Given the description of an element on the screen output the (x, y) to click on. 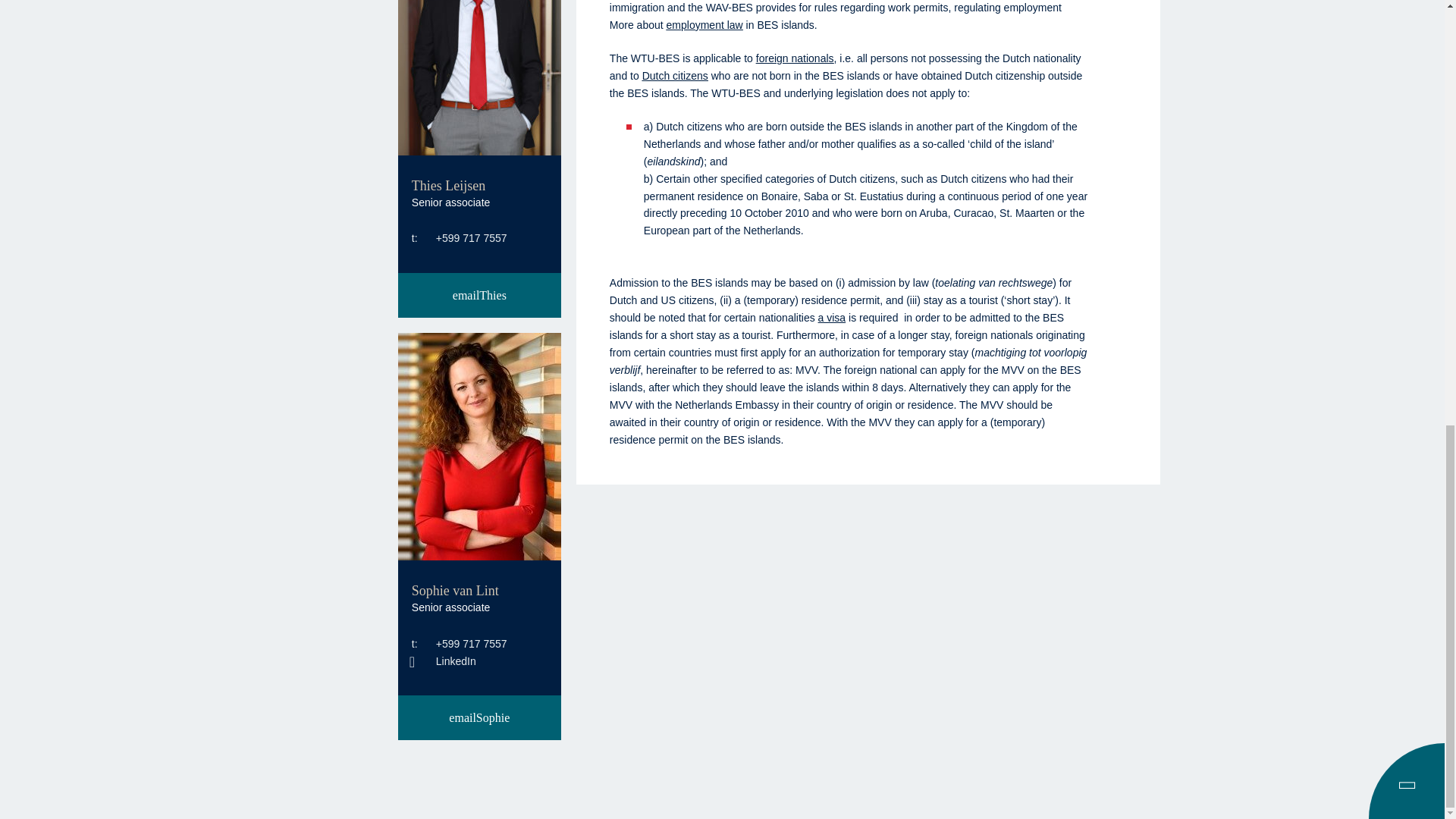
Toggle footer (1409, 785)
LinkedIn (444, 661)
emailSophie (478, 717)
Dutch citizens (674, 75)
foreign nationals (794, 58)
a visa (831, 317)
employment law (704, 24)
emailThies (478, 294)
